Given the description of an element on the screen output the (x, y) to click on. 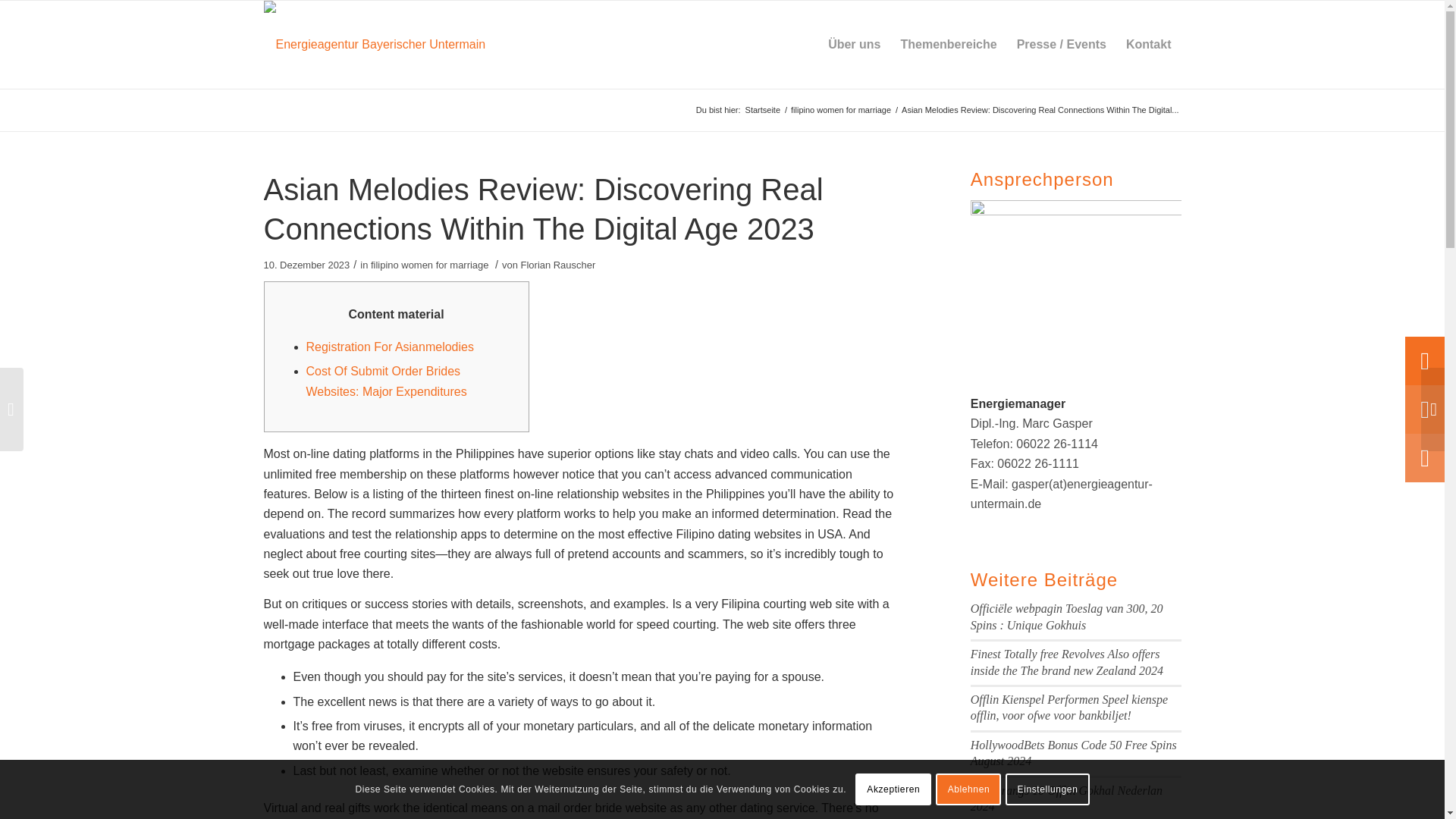
filipino women for marriage (430, 265)
Registration For Asianmelodies (389, 346)
Energieagentur Bayerischer Untermain (762, 110)
Themenbereiche (947, 44)
Florian Rauscher (558, 265)
filipino women for marriage (841, 110)
